Given the description of an element on the screen output the (x, y) to click on. 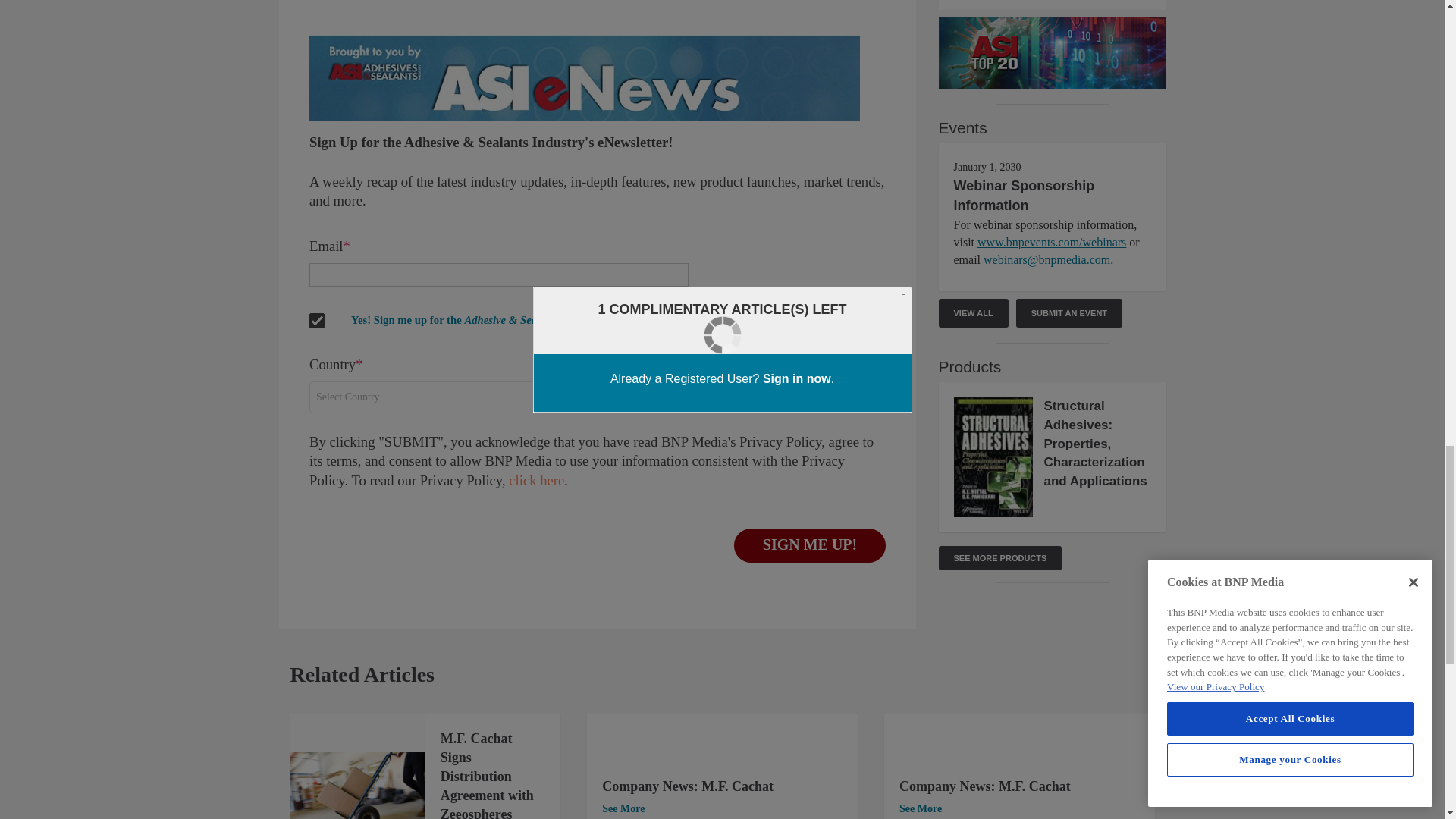
distributor (357, 785)
Webinar Sponsorship Information (1023, 195)
